Given the description of an element on the screen output the (x, y) to click on. 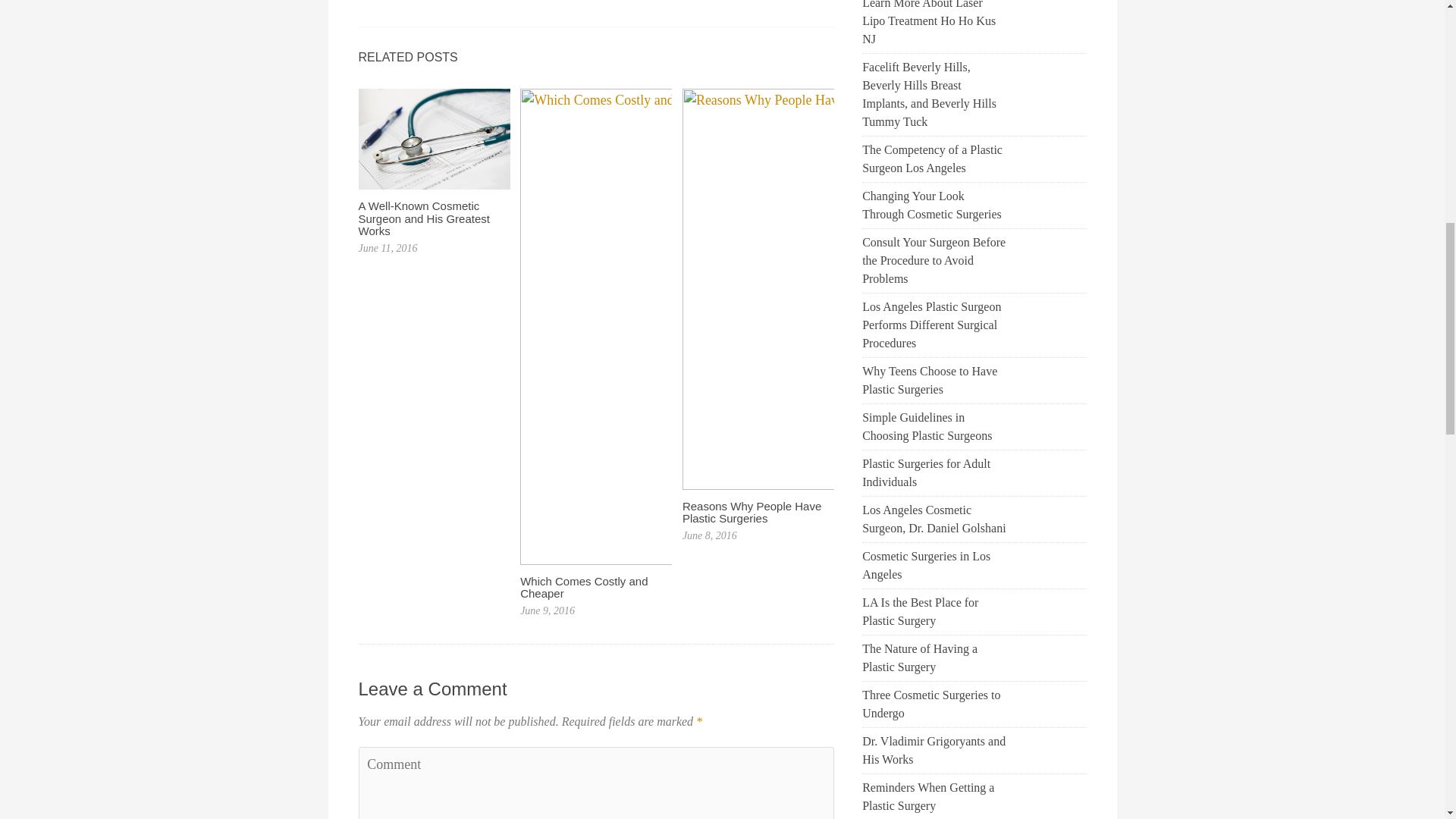
The Competency of a Plastic Surgeon Los Angeles (934, 158)
Changing Your Look Through Cosmetic Surgeries (934, 205)
Which Comes Costly and Cheaper (583, 587)
Cosmetic Surgeries in Los Angeles (934, 565)
Dr. Vladimir Grigoryants and His Works (934, 750)
Three Cosmetic Surgeries to Undergo (934, 704)
Reasons Why People Have Plastic Surgeries (751, 512)
Why Teens Choose to Have Plastic Surgeries (934, 380)
LA Is the Best Place for Plastic Surgery (934, 611)
Reminders When Getting a Plastic Surgery (934, 796)
Plastic Surgeries for Adult Individuals (934, 473)
The Nature of Having a Plastic Surgery (934, 657)
A Well-Known Cosmetic Surgeon and His Greatest Works (423, 218)
